Given the description of an element on the screen output the (x, y) to click on. 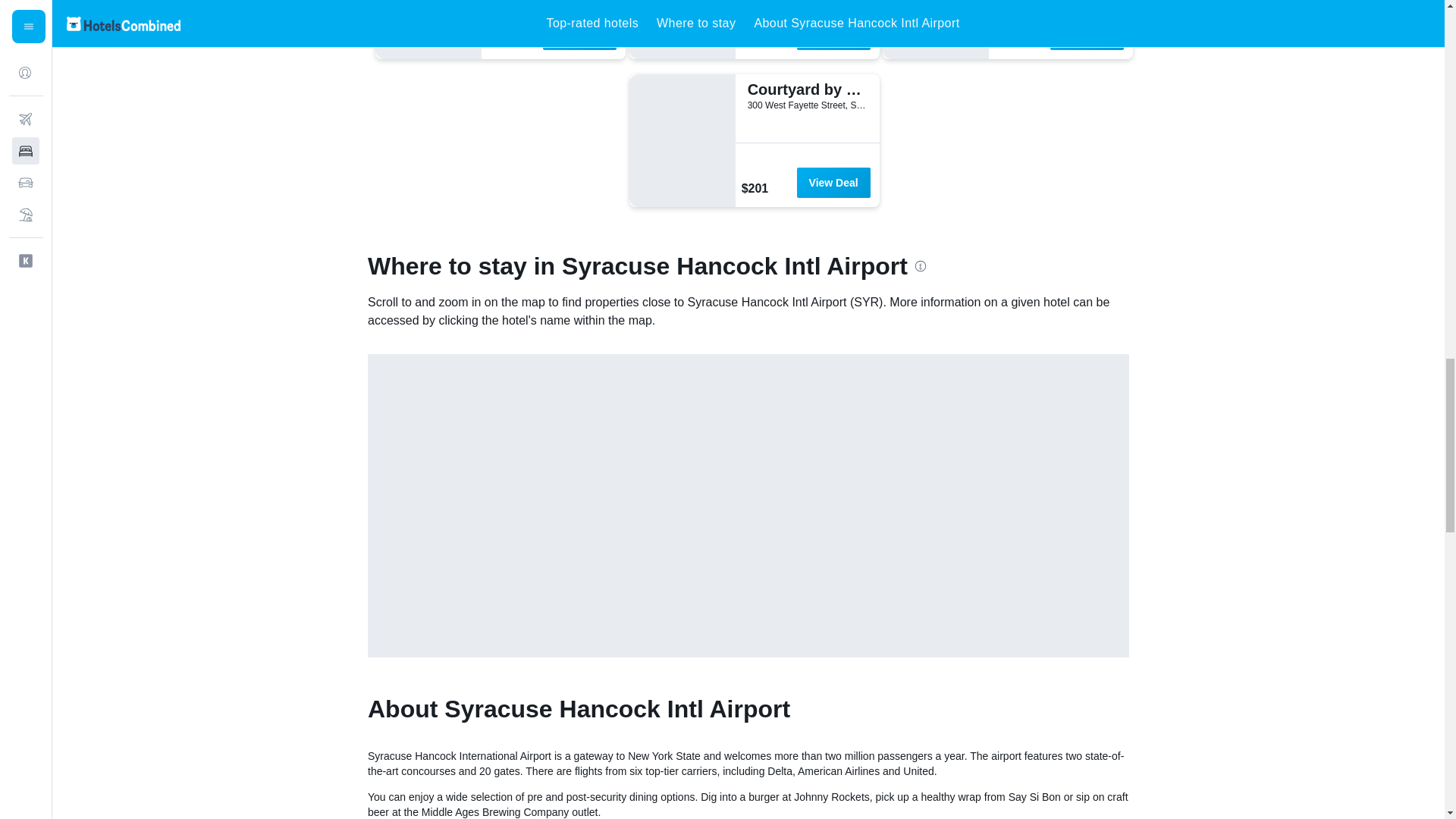
View Deal (833, 182)
View Deal (579, 34)
View Deal (833, 34)
Courtyard by Marriott Syracuse Downtown at Armory Square (805, 89)
